Given the description of an element on the screen output the (x, y) to click on. 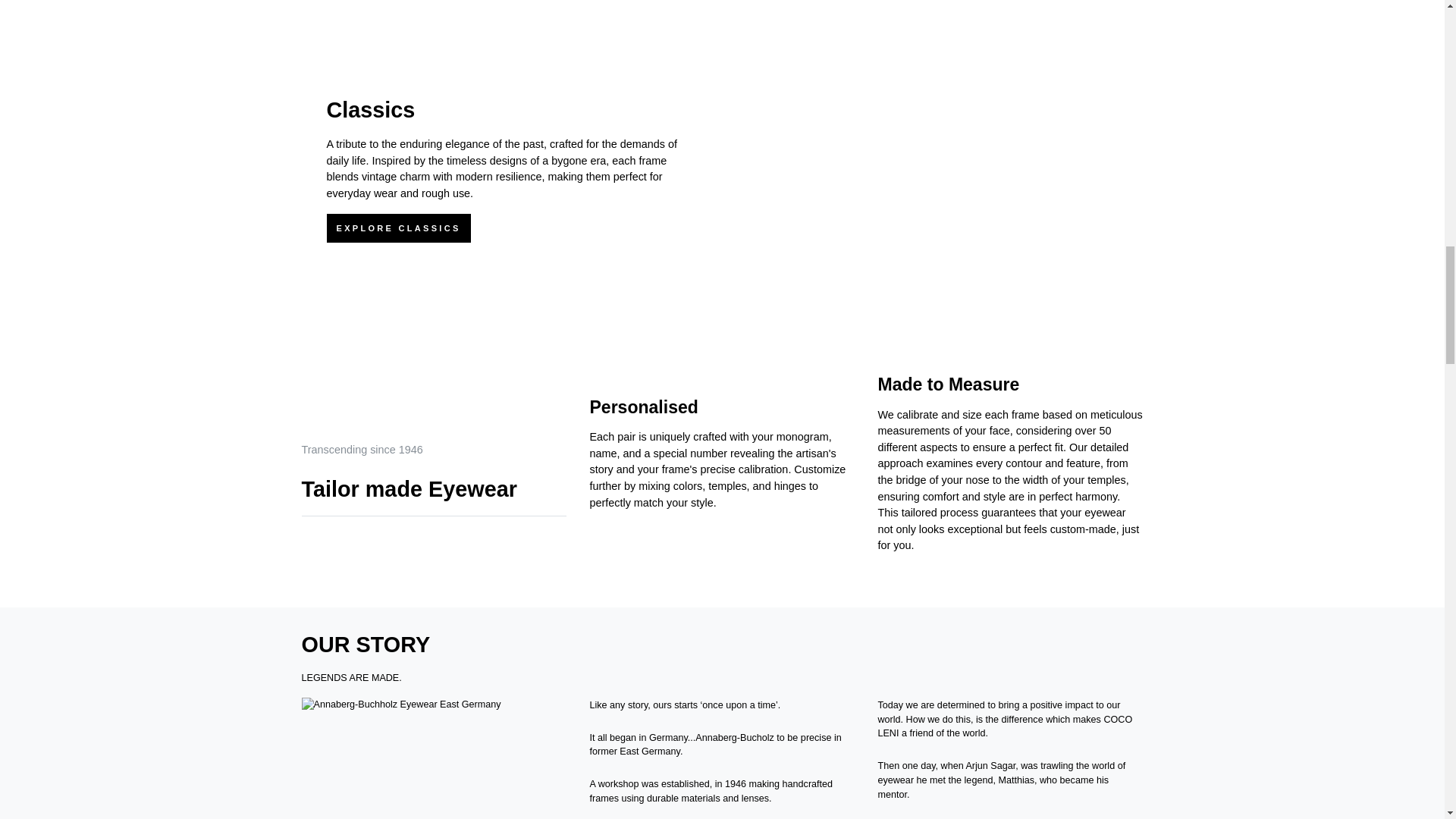
EXPLORE CLASSICS (398, 227)
Classics (370, 109)
